Given the description of an element on the screen output the (x, y) to click on. 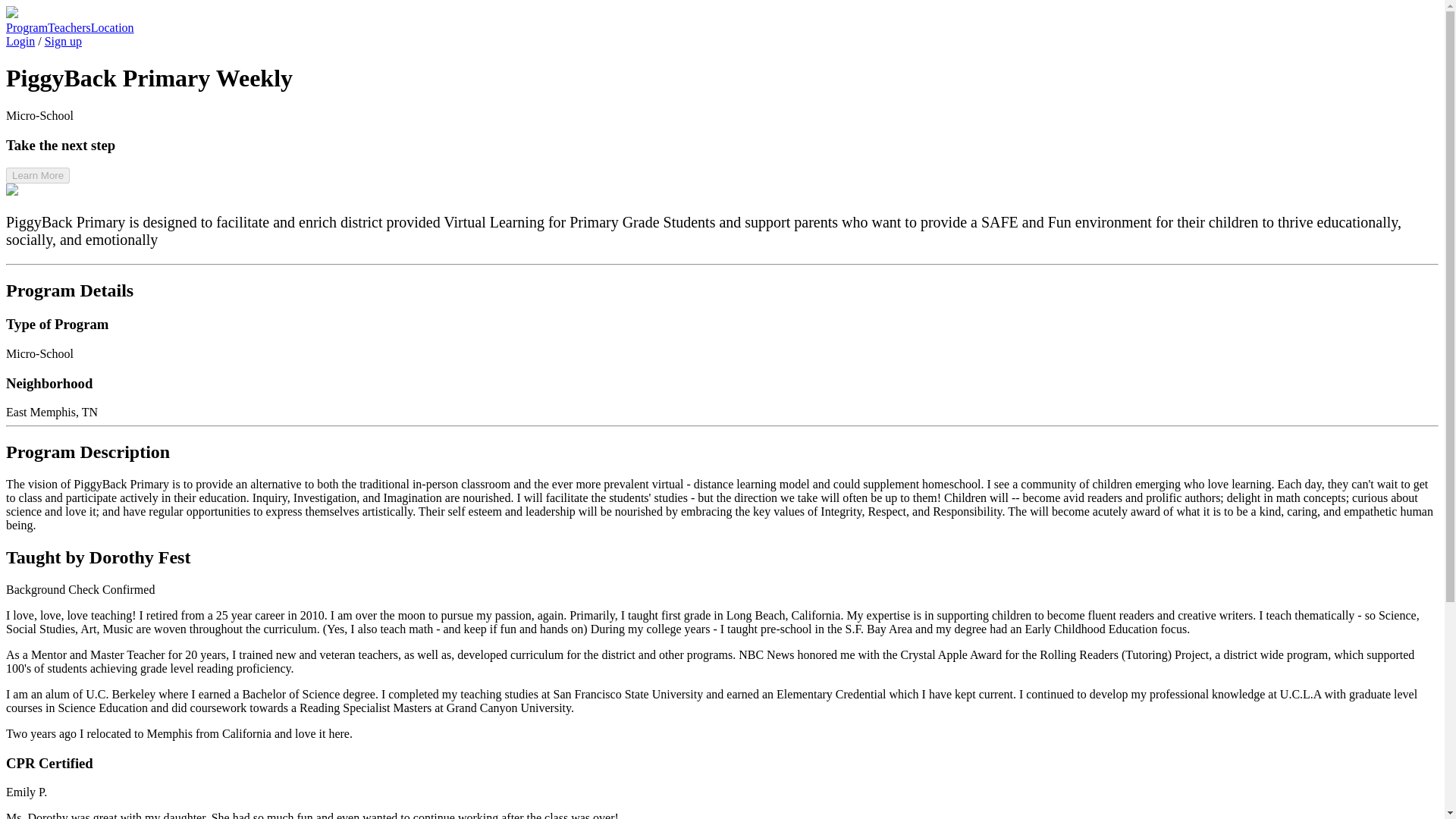
Location (111, 27)
Login (19, 41)
Program (26, 27)
Teachers (69, 27)
Learn More (37, 175)
Sign up (63, 41)
